Given the description of an element on the screen output the (x, y) to click on. 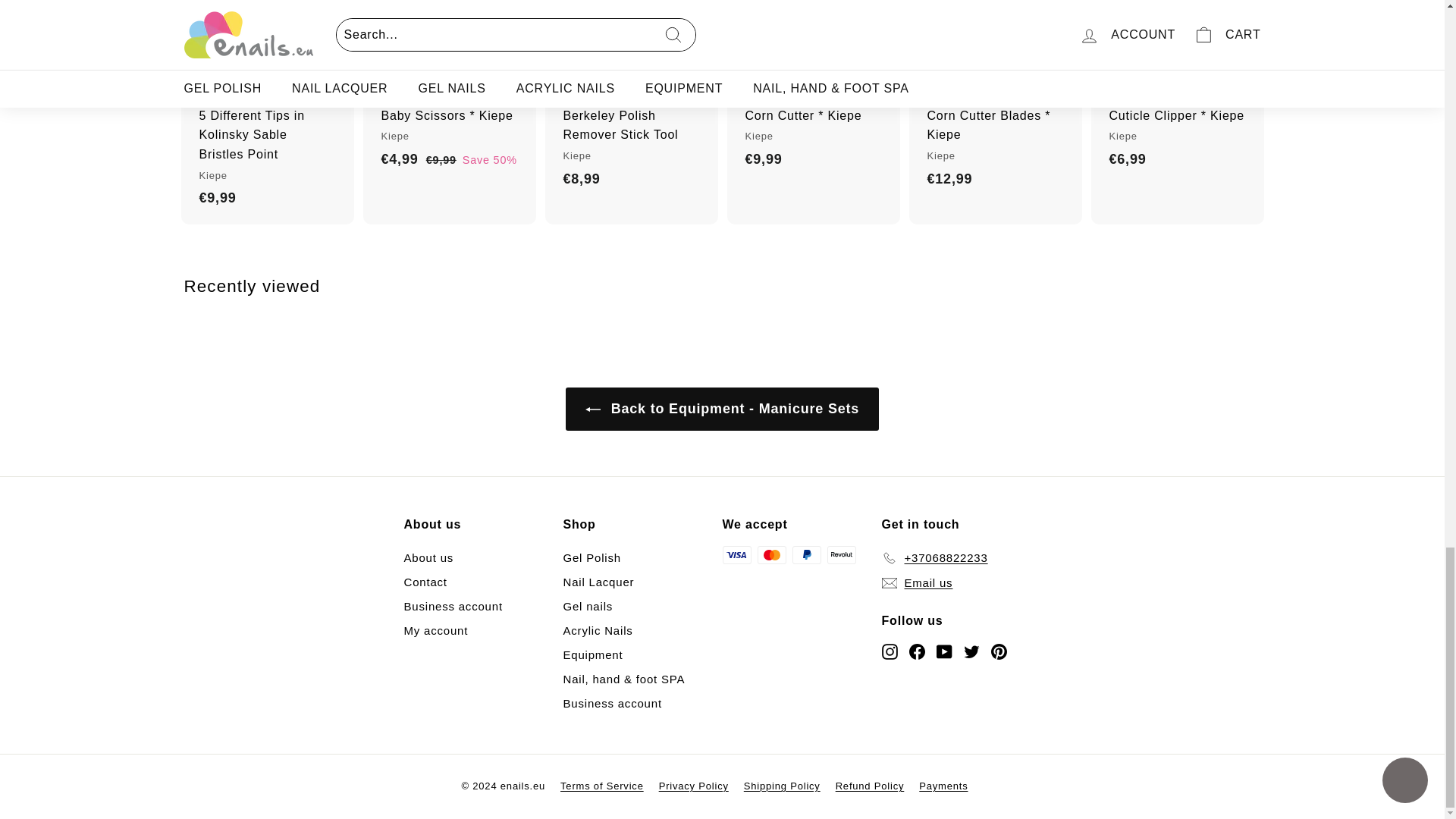
Revolut (841, 555)
Visa (736, 555)
PayPal (806, 555)
Mastercard (771, 555)
